Given the description of an element on the screen output the (x, y) to click on. 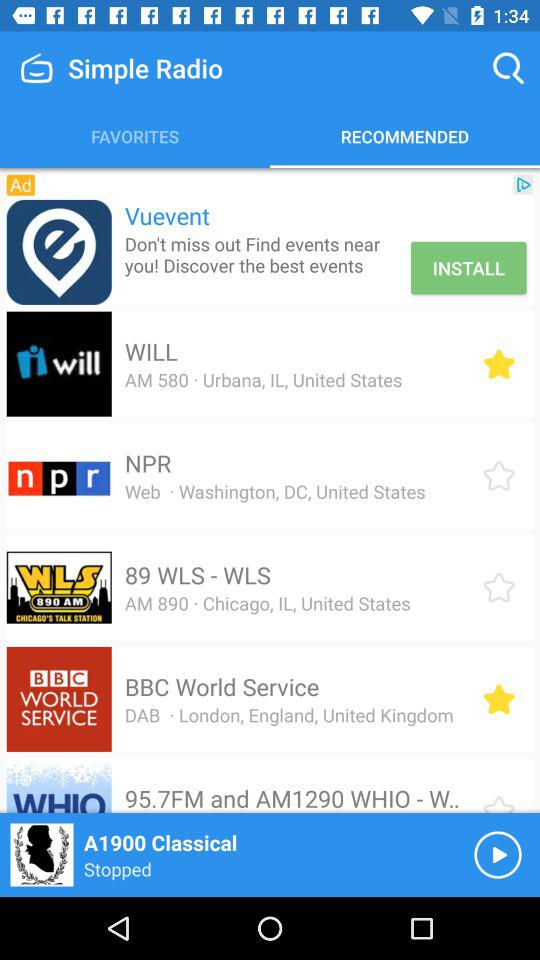
launch the item below the bbc world service item (288, 714)
